Given the description of an element on the screen output the (x, y) to click on. 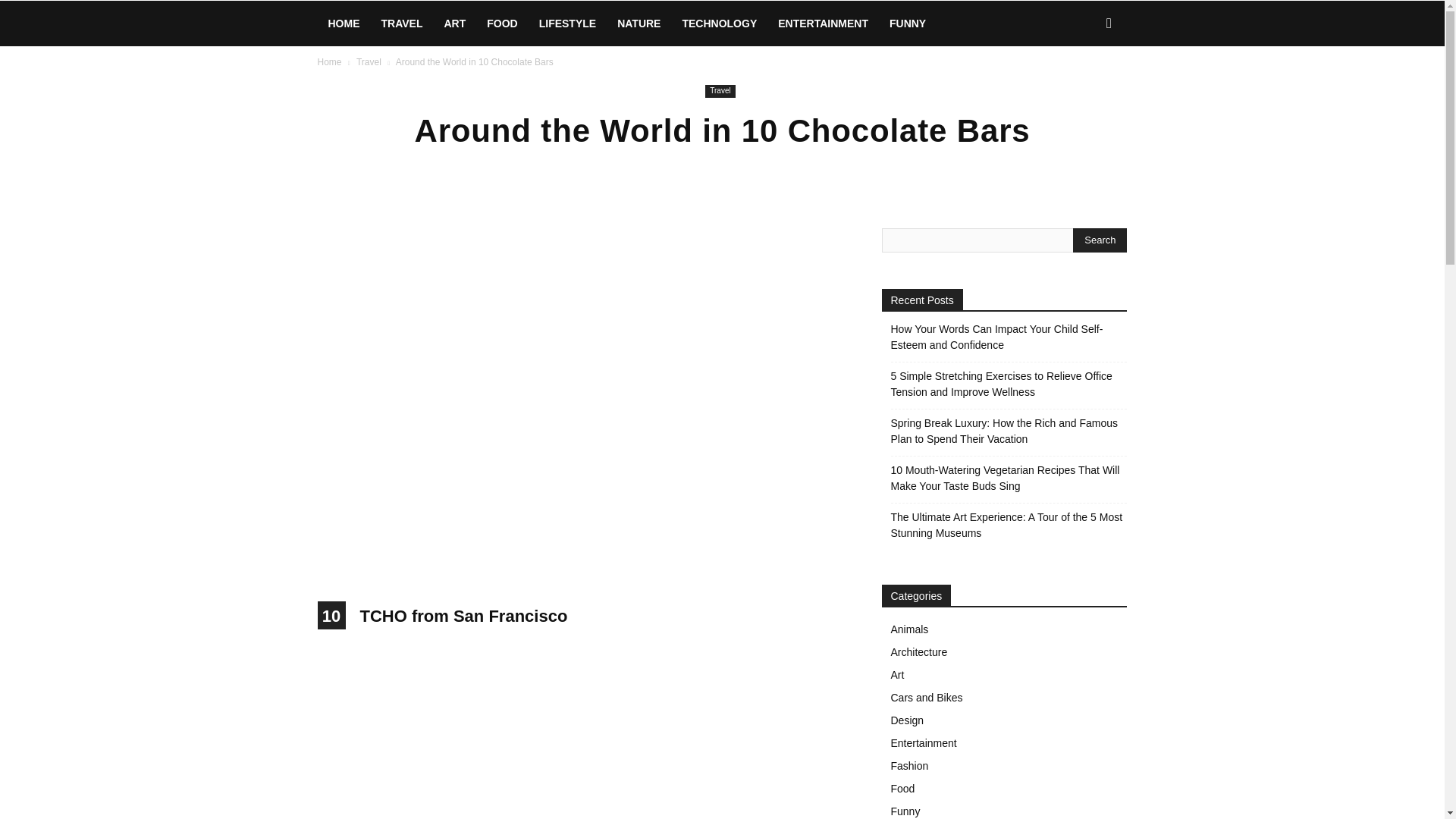
ART (454, 22)
NATURE (639, 22)
View all posts in Travel (368, 61)
FUNNY (907, 22)
HOME (343, 22)
LIFESTYLE (567, 22)
Home (328, 61)
Travel (368, 61)
Search (1085, 88)
TECHNOLOGY (719, 22)
Travel (719, 91)
Search (1099, 240)
TRAVEL (400, 22)
ENTERTAINMENT (823, 22)
FOOD (501, 22)
